Given the description of an element on the screen output the (x, y) to click on. 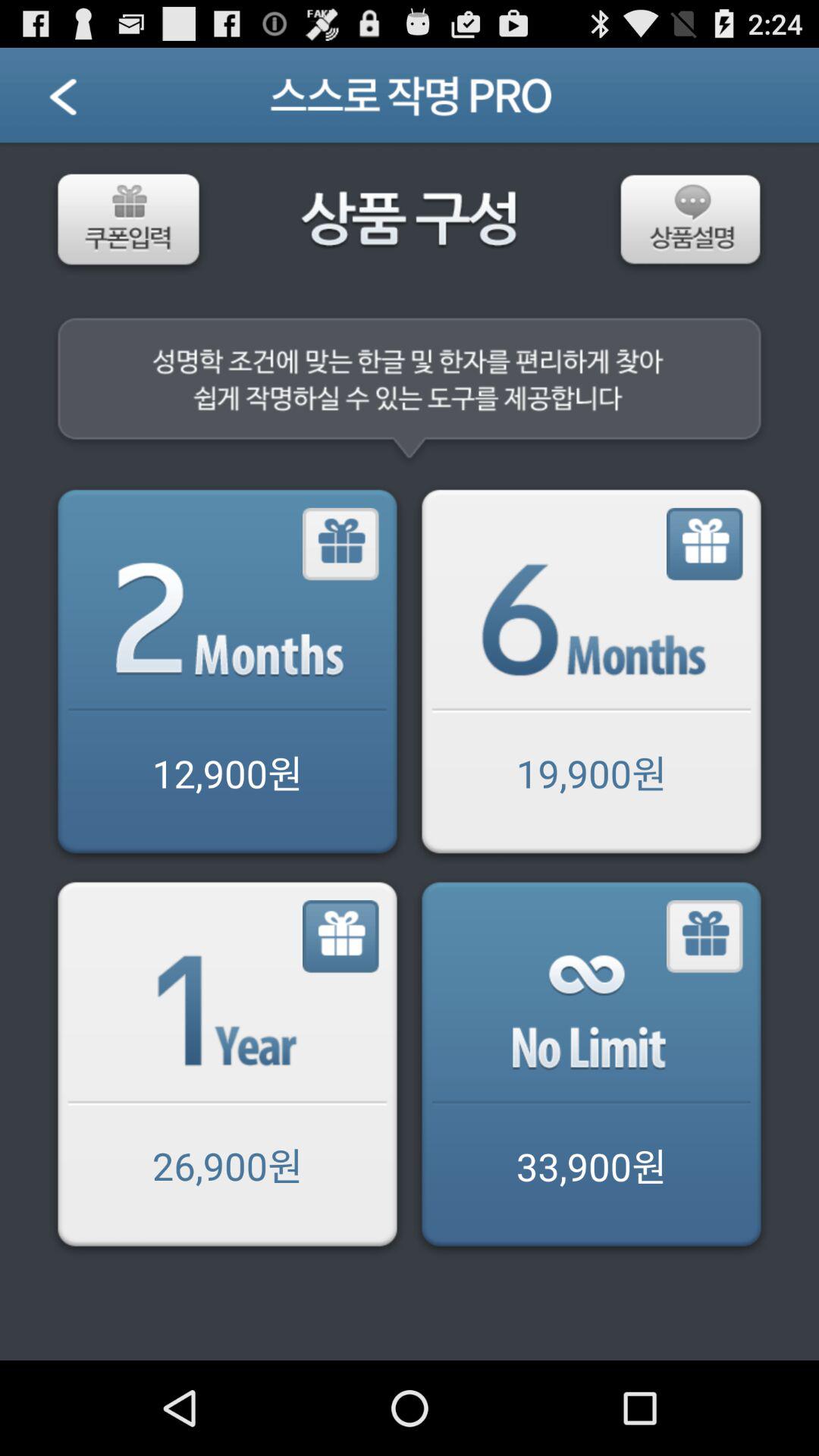
open gift button (591, 674)
